Given the description of an element on the screen output the (x, y) to click on. 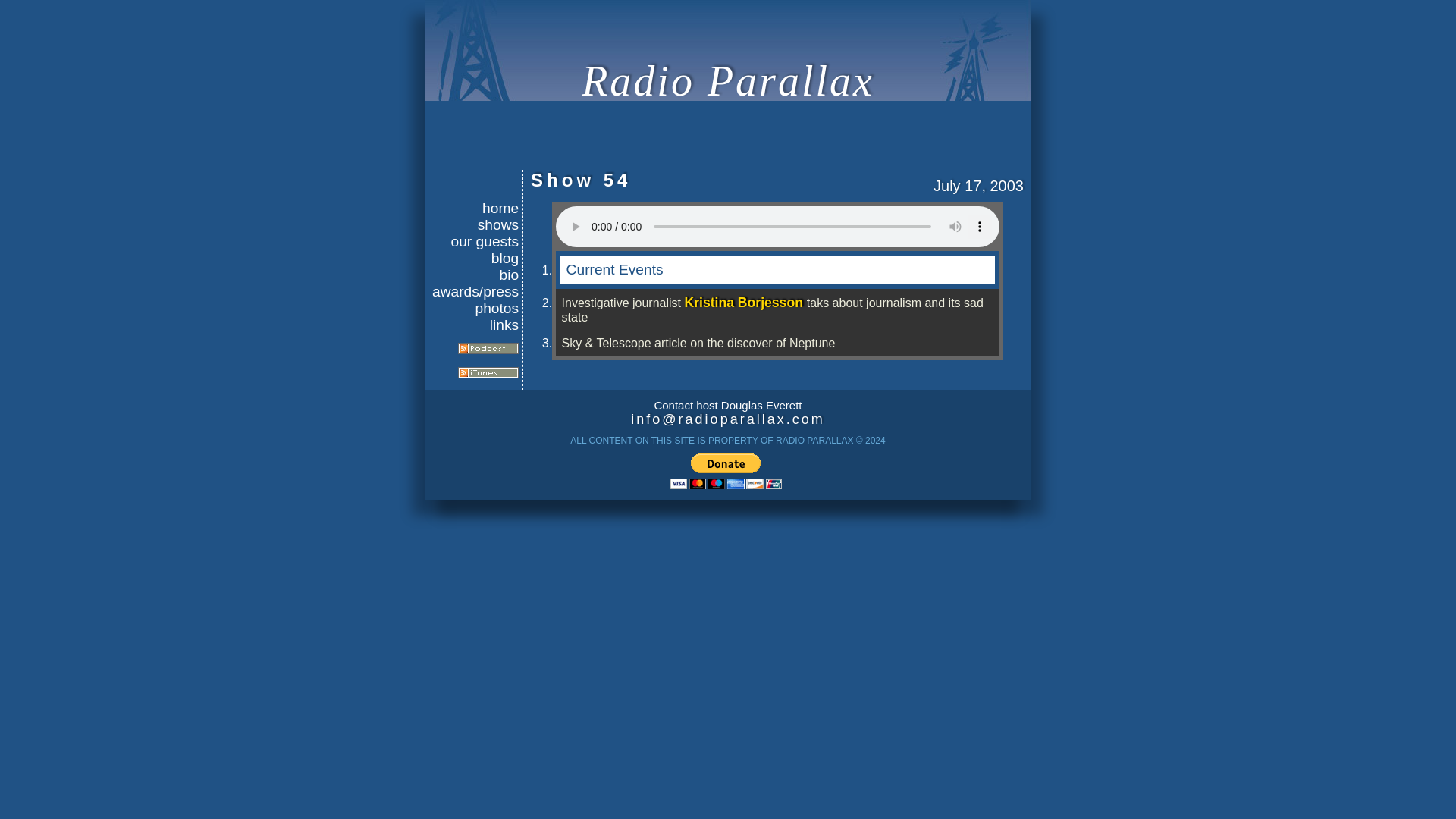
Contact host Douglas Everett (727, 412)
Current Events (777, 269)
our guests (475, 241)
home (475, 208)
Radio Parallax (727, 80)
shows (475, 225)
bio (475, 274)
photos (475, 308)
blog (475, 258)
links (475, 324)
